Given the description of an element on the screen output the (x, y) to click on. 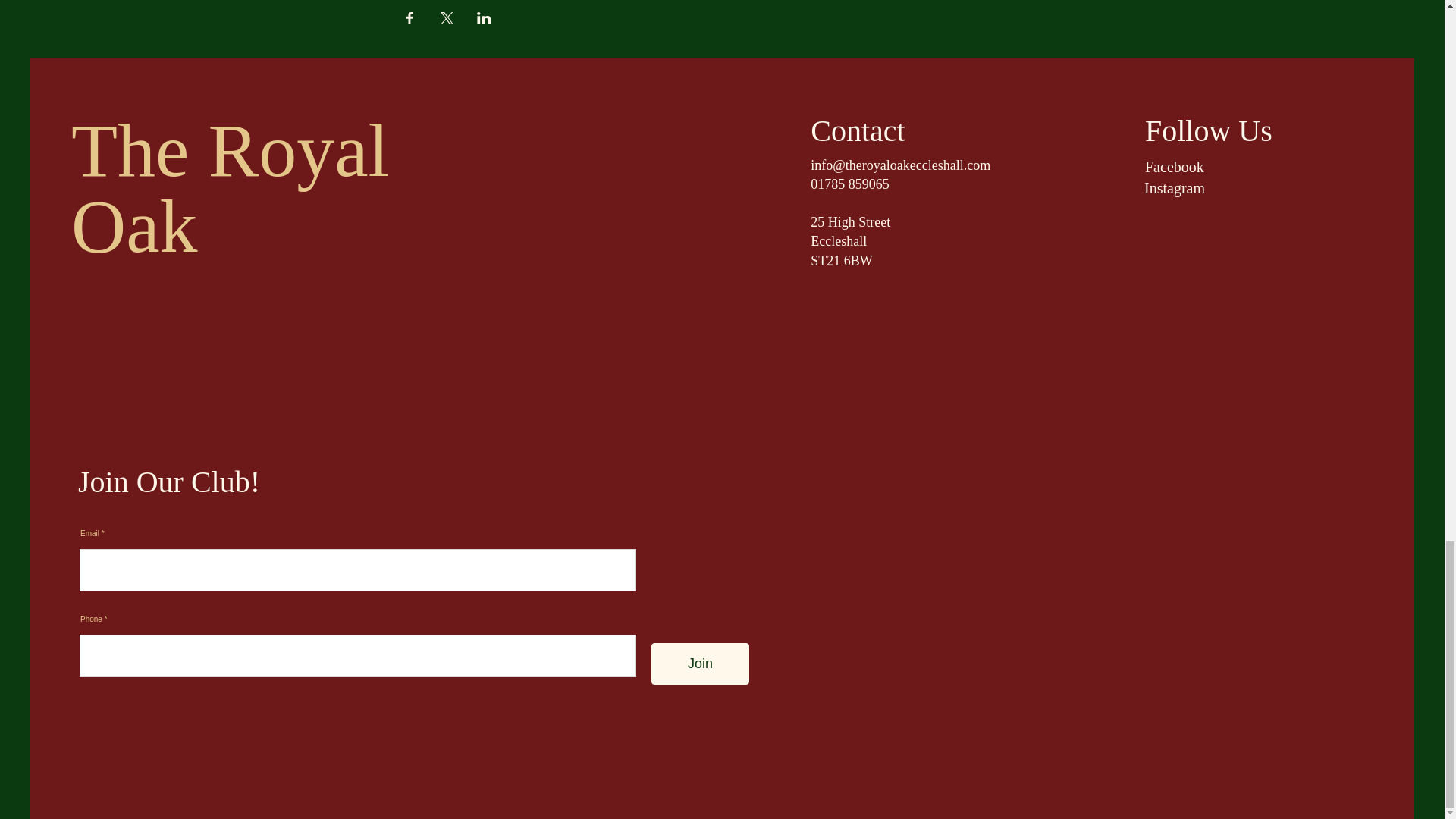
Facebook (1174, 166)
Join (699, 663)
01785 859065 (849, 183)
The Royal (229, 150)
Instagram (1174, 187)
